Given the description of an element on the screen output the (x, y) to click on. 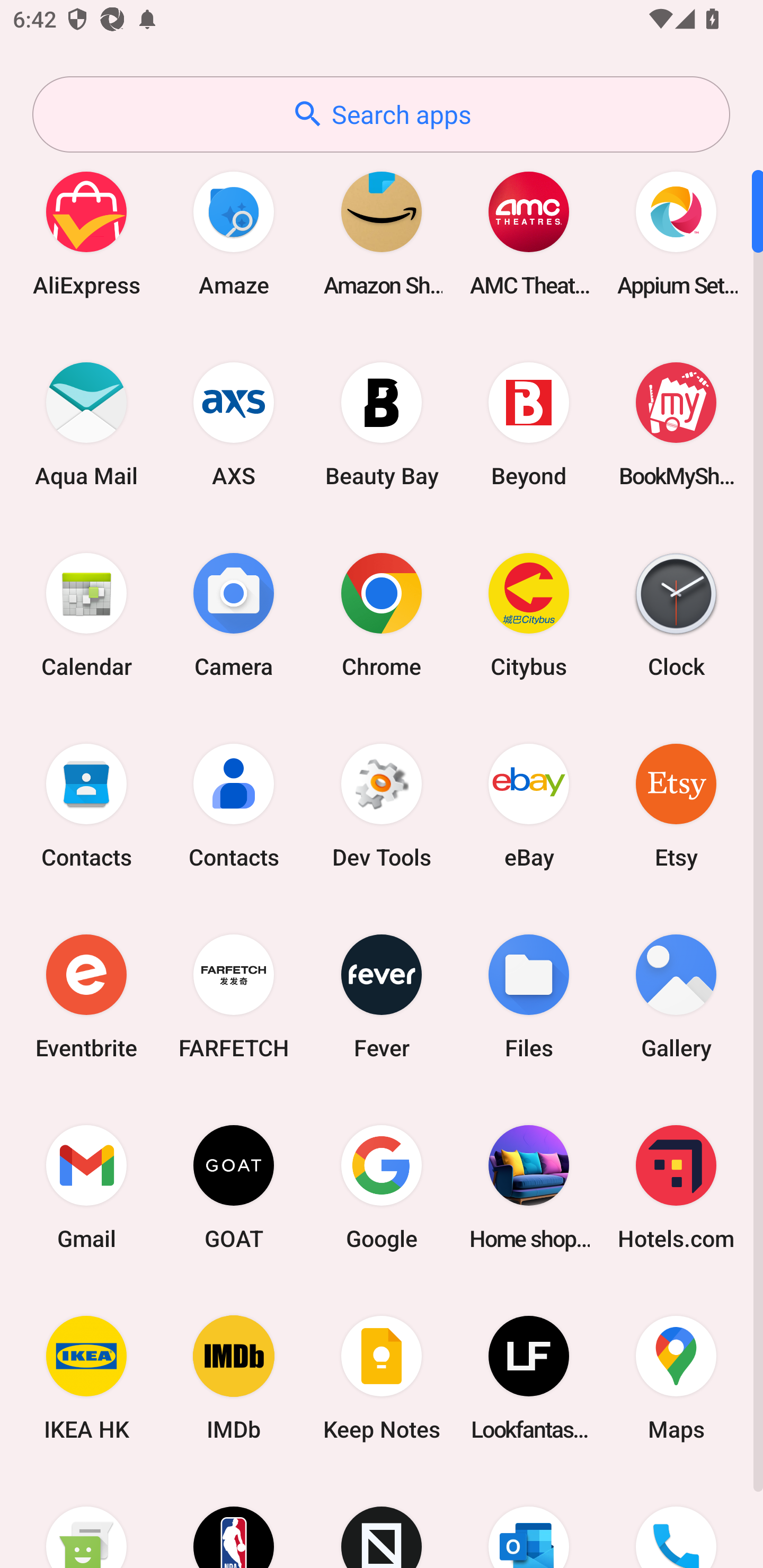
  Search apps (381, 114)
AliExpress (86, 233)
Amaze (233, 233)
Amazon Shopping (381, 233)
AMC Theatres (528, 233)
Appium Settings (676, 233)
Aqua Mail (86, 424)
AXS (233, 424)
Beauty Bay (381, 424)
Beyond (528, 424)
BookMyShow (676, 424)
Calendar (86, 614)
Camera (233, 614)
Chrome (381, 614)
Citybus (528, 614)
Clock (676, 614)
Contacts (86, 805)
Contacts (233, 805)
Dev Tools (381, 805)
eBay (528, 805)
Etsy (676, 805)
Eventbrite (86, 996)
FARFETCH (233, 996)
Fever (381, 996)
Files (528, 996)
Gallery (676, 996)
Gmail (86, 1186)
GOAT (233, 1186)
Google (381, 1186)
Home shopping (528, 1186)
Hotels.com (676, 1186)
IKEA HK (86, 1377)
IMDb (233, 1377)
Keep Notes (381, 1377)
Lookfantastic (528, 1377)
Maps (676, 1377)
